Given the description of an element on the screen output the (x, y) to click on. 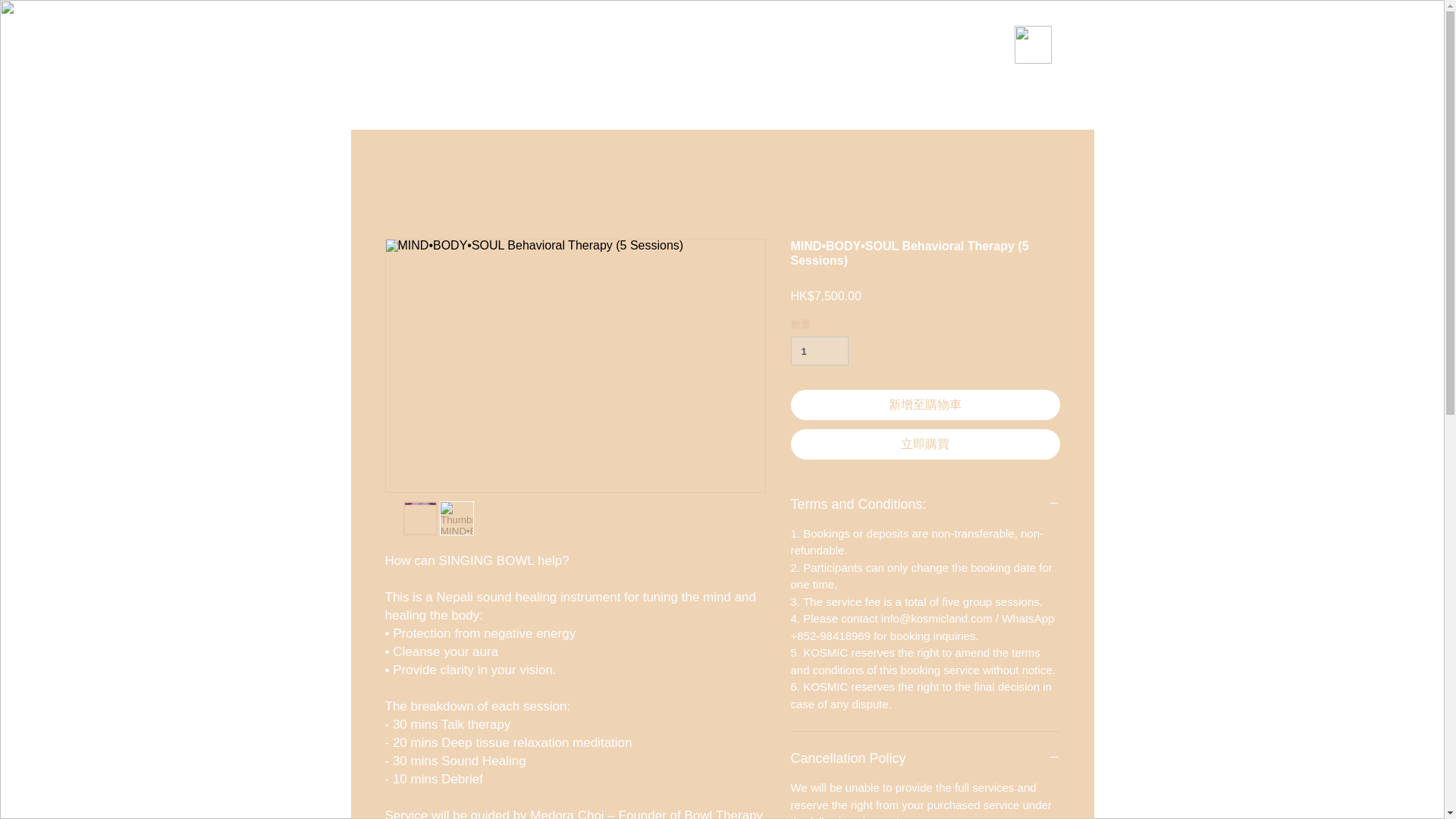
SERVICE (638, 103)
1 (818, 350)
ABOUT (502, 103)
Cancellation Policy (924, 758)
HOME (434, 103)
SHOP (568, 103)
Blog (871, 103)
Terms and Conditions: (924, 504)
GALLERY (802, 103)
GALLERY (720, 103)
